Given the description of an element on the screen output the (x, y) to click on. 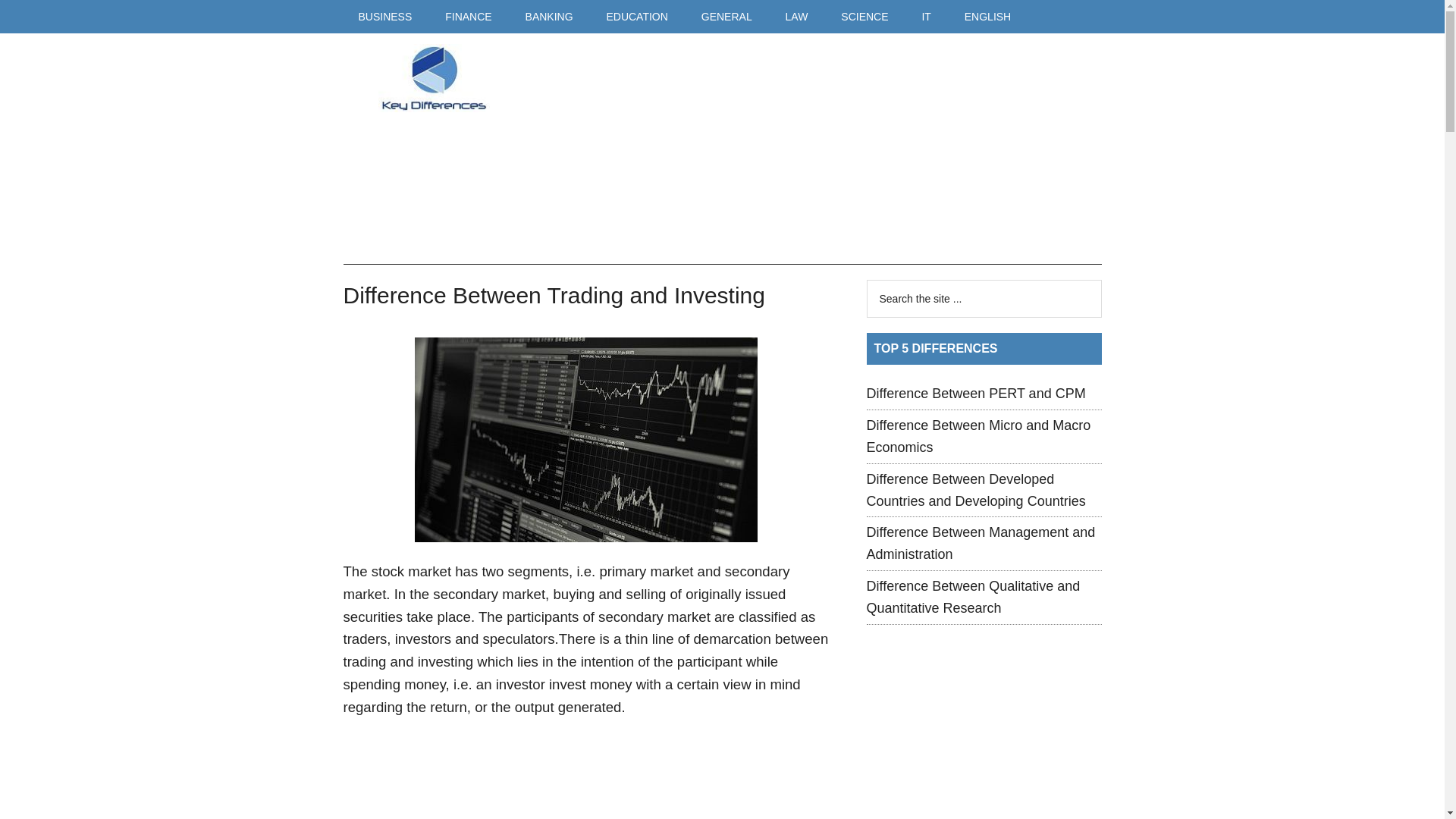
Advertisement (800, 150)
IT (924, 16)
Advertisement (584, 777)
GENERAL (726, 16)
SCIENCE (863, 16)
LAW (797, 16)
Advertisement (983, 751)
Difference Between Management and Administration (980, 542)
FINANCE (467, 16)
ENGLISH (987, 16)
BUSINESS (384, 16)
Difference Between Qualitative and Quantitative Research (973, 596)
